Given the description of an element on the screen output the (x, y) to click on. 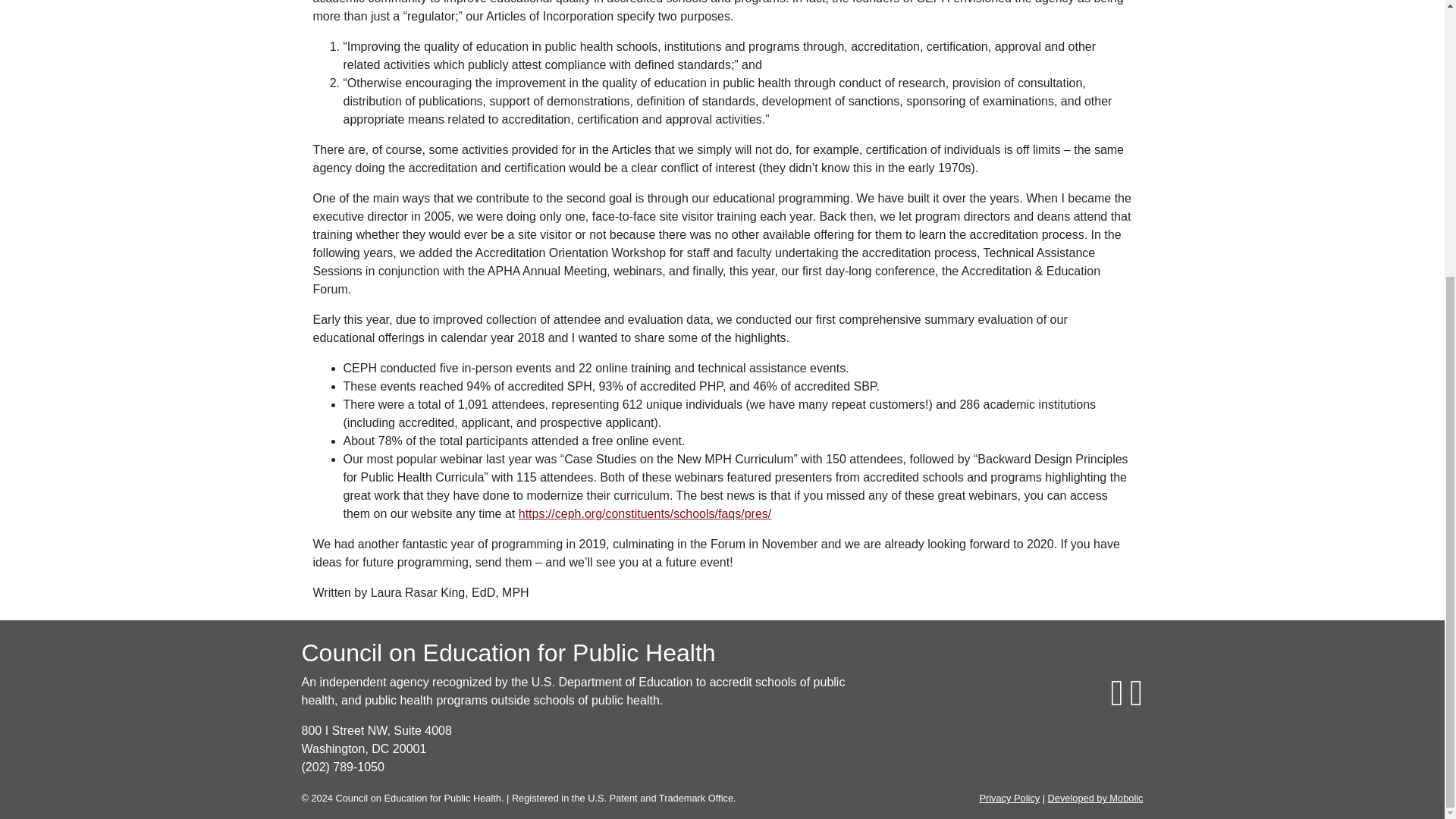
Privacy Policy (1008, 797)
